Given the description of an element on the screen output the (x, y) to click on. 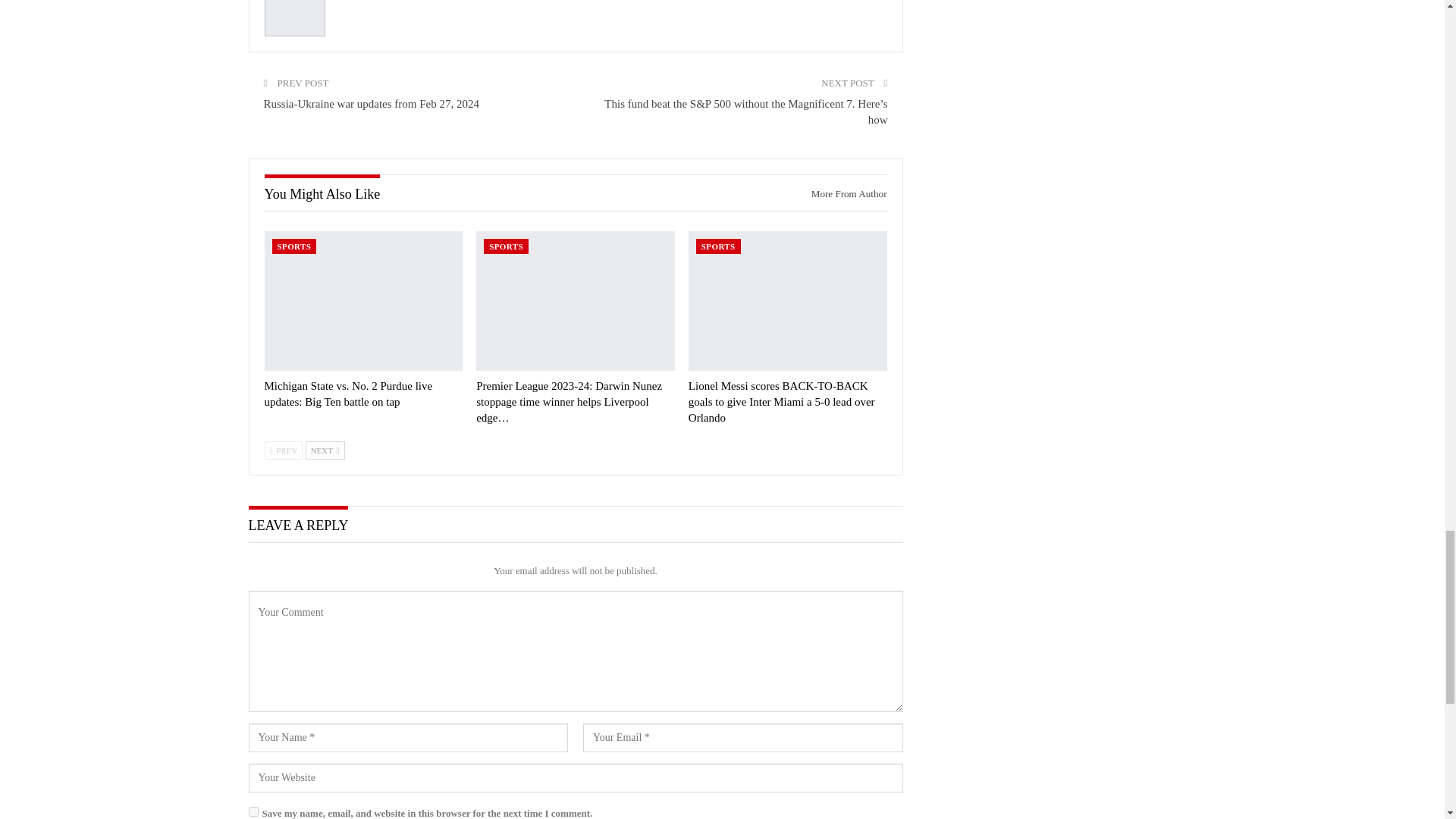
yes (253, 811)
